Given the description of an element on the screen output the (x, y) to click on. 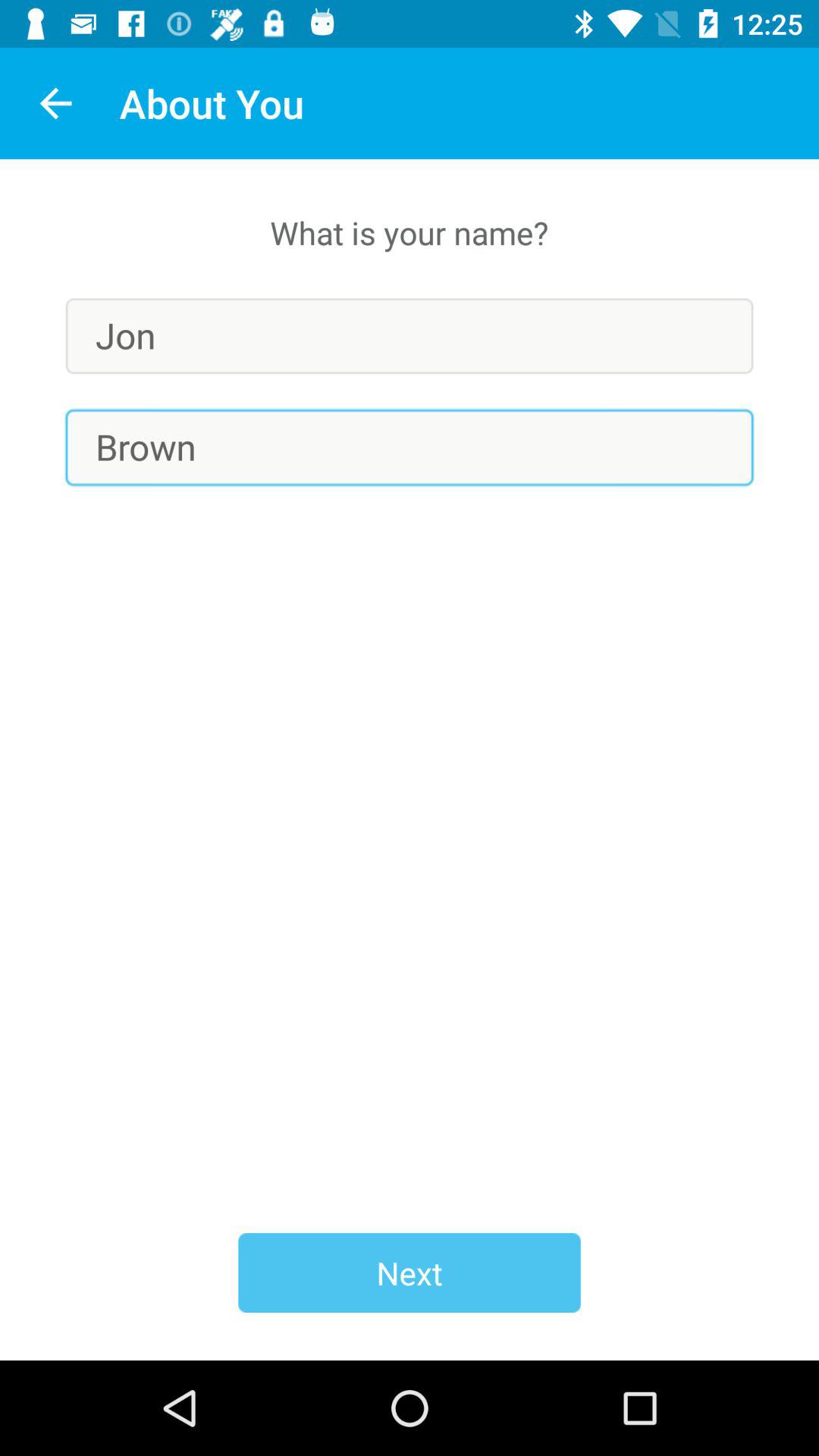
swipe until the next icon (409, 1272)
